Given the description of an element on the screen output the (x, y) to click on. 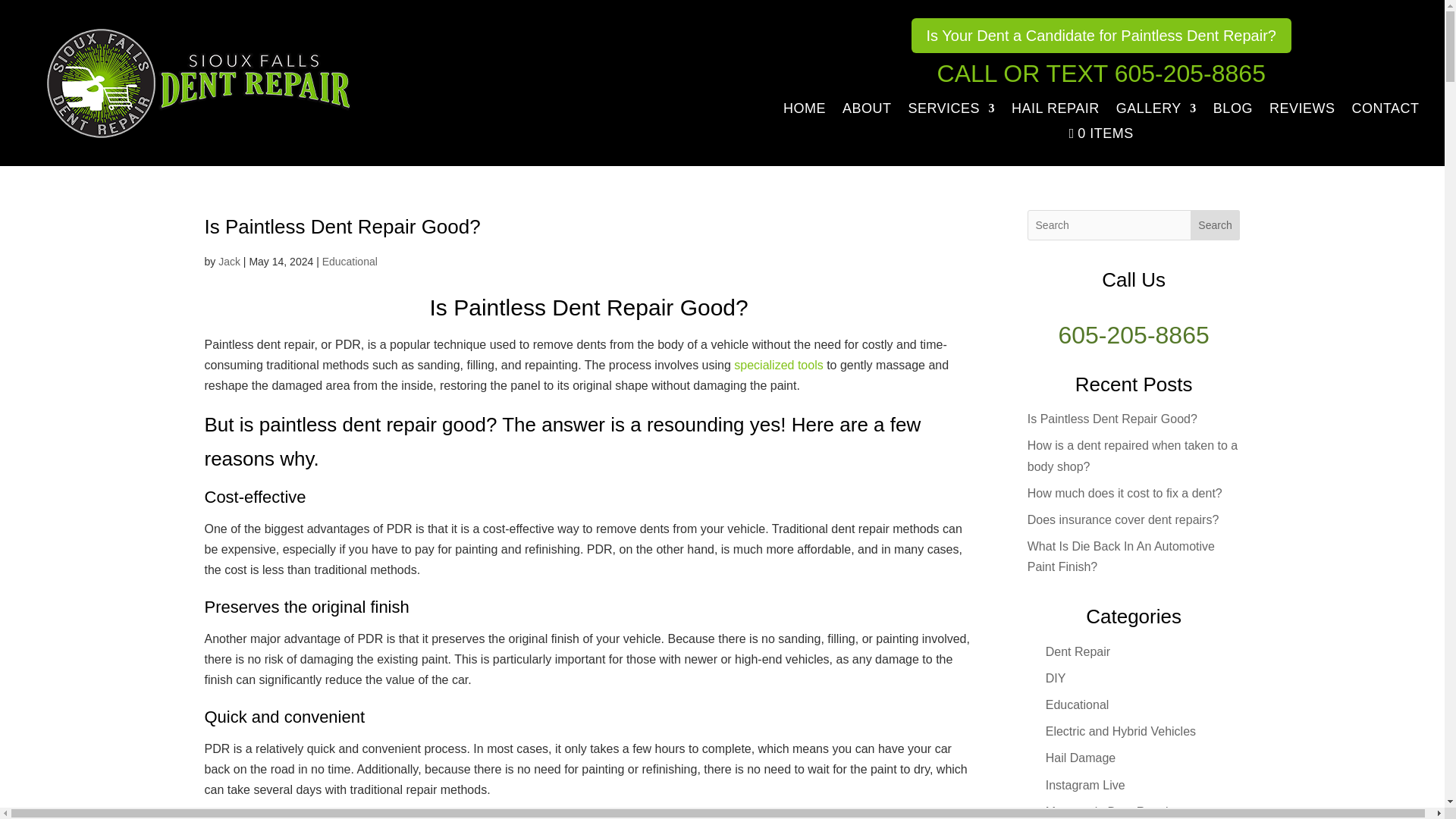
0 ITEMS (1101, 137)
Educational (349, 261)
sioux-falls-logo-new (198, 83)
Start shopping (1101, 137)
Is Your Dent a Candidate for Paintless Dent Repair? (1101, 35)
HOME (804, 111)
Is Paintless Dent Repair Good? (342, 226)
Jack (229, 261)
SERVICES (950, 111)
GALLERY (1156, 111)
specialized tools (777, 364)
CONTACT (1384, 111)
ABOUT (867, 111)
HAIL REPAIR (1055, 111)
BLOG (1232, 111)
